Given the description of an element on the screen output the (x, y) to click on. 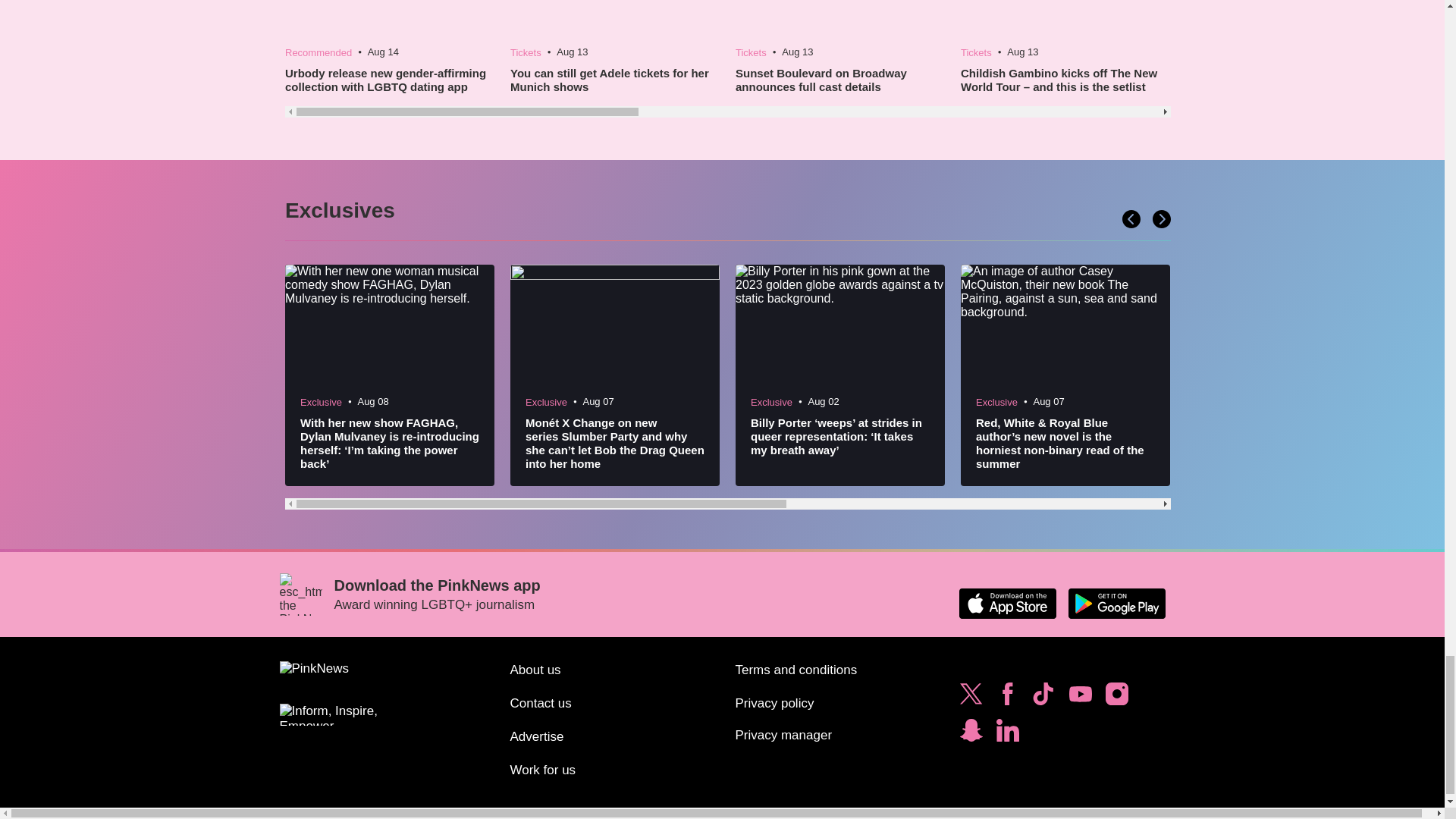
Follow PinkNews on TikTok (1042, 697)
Follow PinkNews on Instagram (1116, 697)
Download the PinkNews app on the Apple App Store (1006, 603)
Follow PinkNews on LinkedIn (1007, 733)
Download the PinkNews app on Google Play (1115, 603)
Subscribe to PinkNews on Snapchat (970, 733)
Subscribe to PinkNews on YouTube (1079, 697)
Follow PinkNews on Twitter (970, 697)
